Given the description of an element on the screen output the (x, y) to click on. 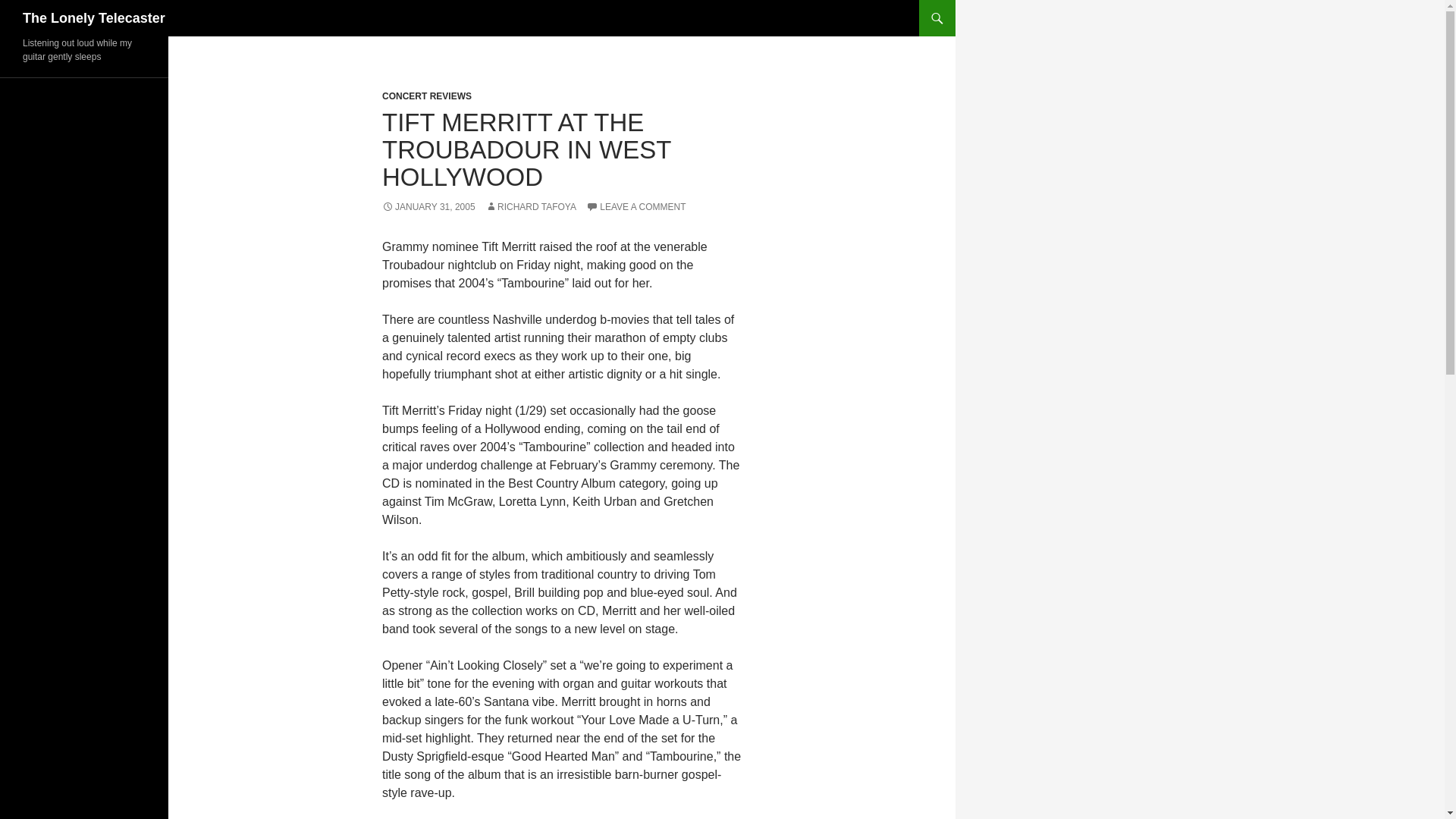
JANUARY 31, 2005 (428, 206)
The Lonely Telecaster (94, 18)
CONCERT REVIEWS (426, 95)
LEAVE A COMMENT (635, 206)
RICHARD TAFOYA (530, 206)
